Given the description of an element on the screen output the (x, y) to click on. 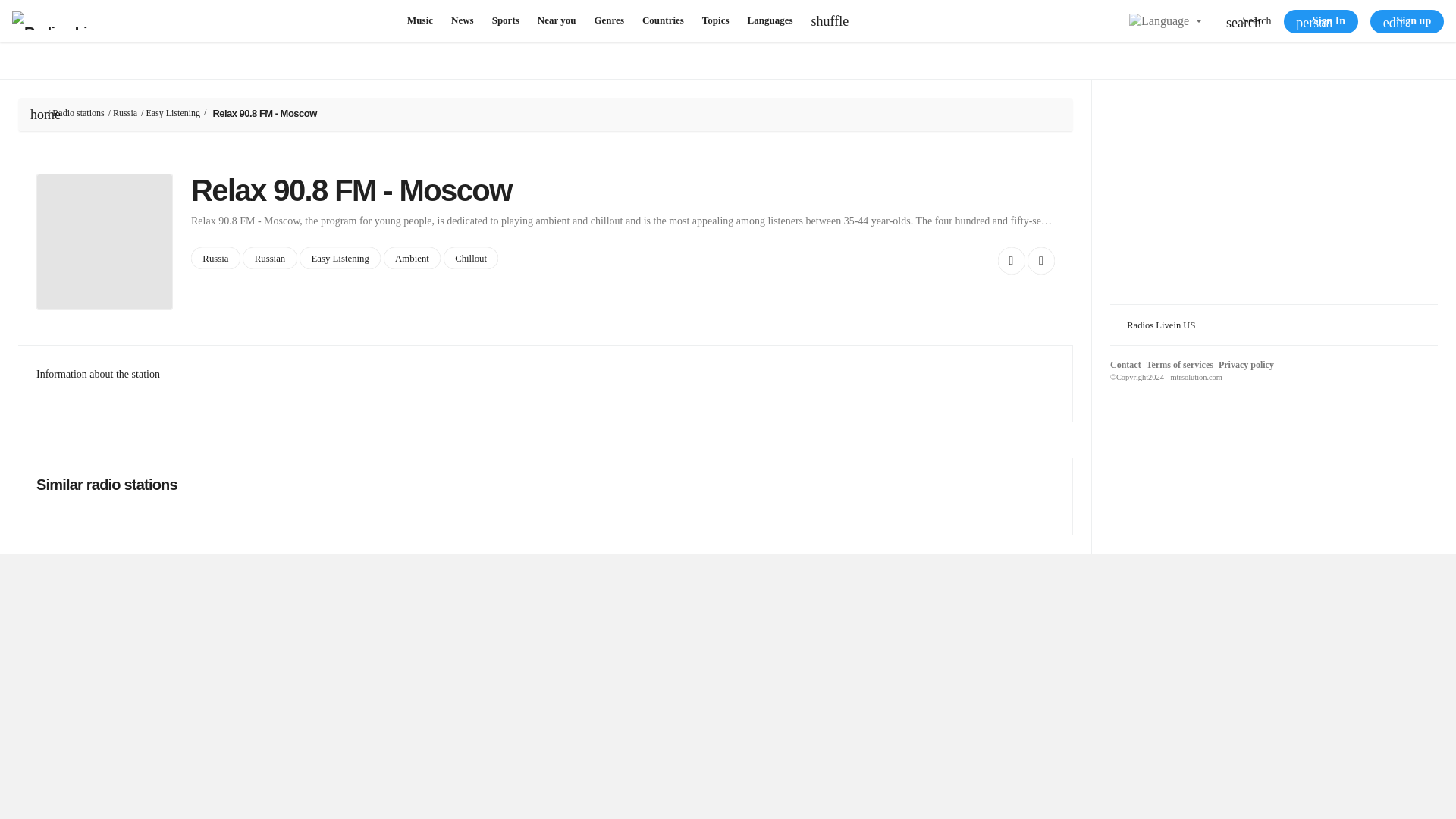
Languages (770, 20)
search Search (1248, 21)
Add to favorites (1011, 260)
Near you (556, 20)
Russia (124, 112)
Radio stations (77, 112)
Easy Listening (172, 112)
Easy Listening (339, 258)
Ambient (412, 258)
person Sign In (1321, 21)
